Given the description of an element on the screen output the (x, y) to click on. 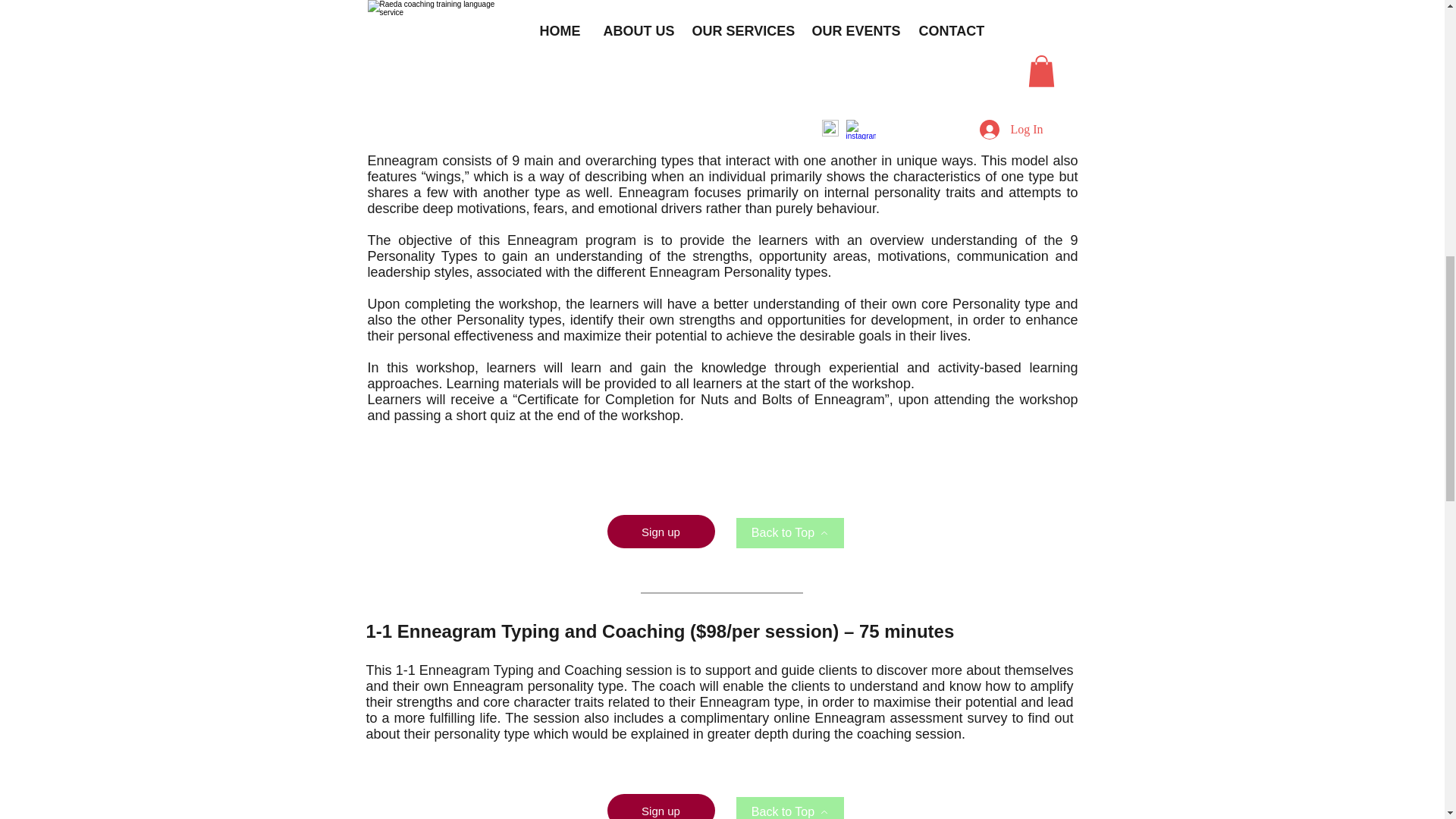
Back to Top (789, 532)
Sign up (660, 806)
Back to Top (789, 807)
Sign up (660, 531)
